Given the description of an element on the screen output the (x, y) to click on. 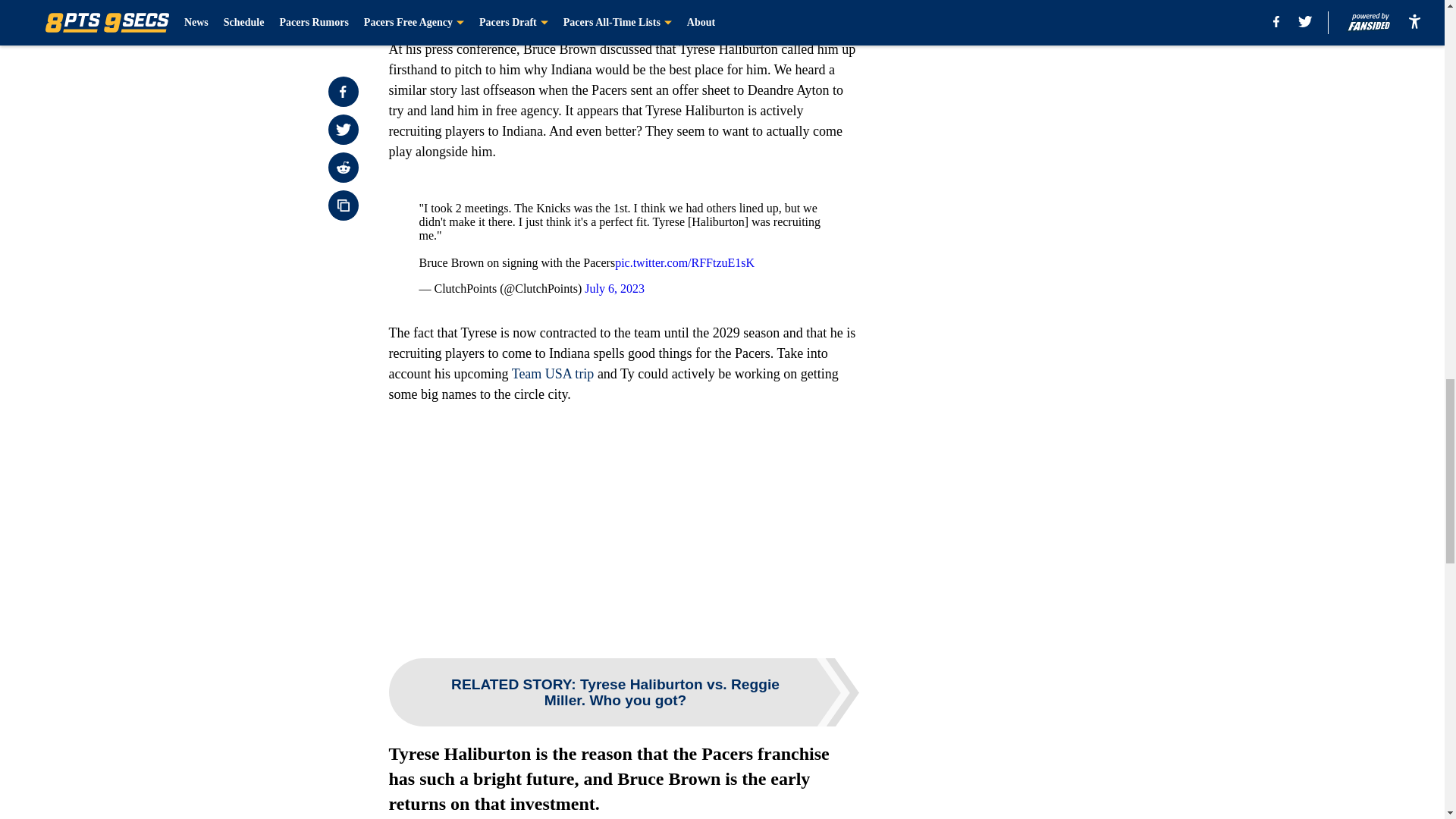
Team USA trip (553, 373)
July 6, 2023 (615, 287)
